Given the description of an element on the screen output the (x, y) to click on. 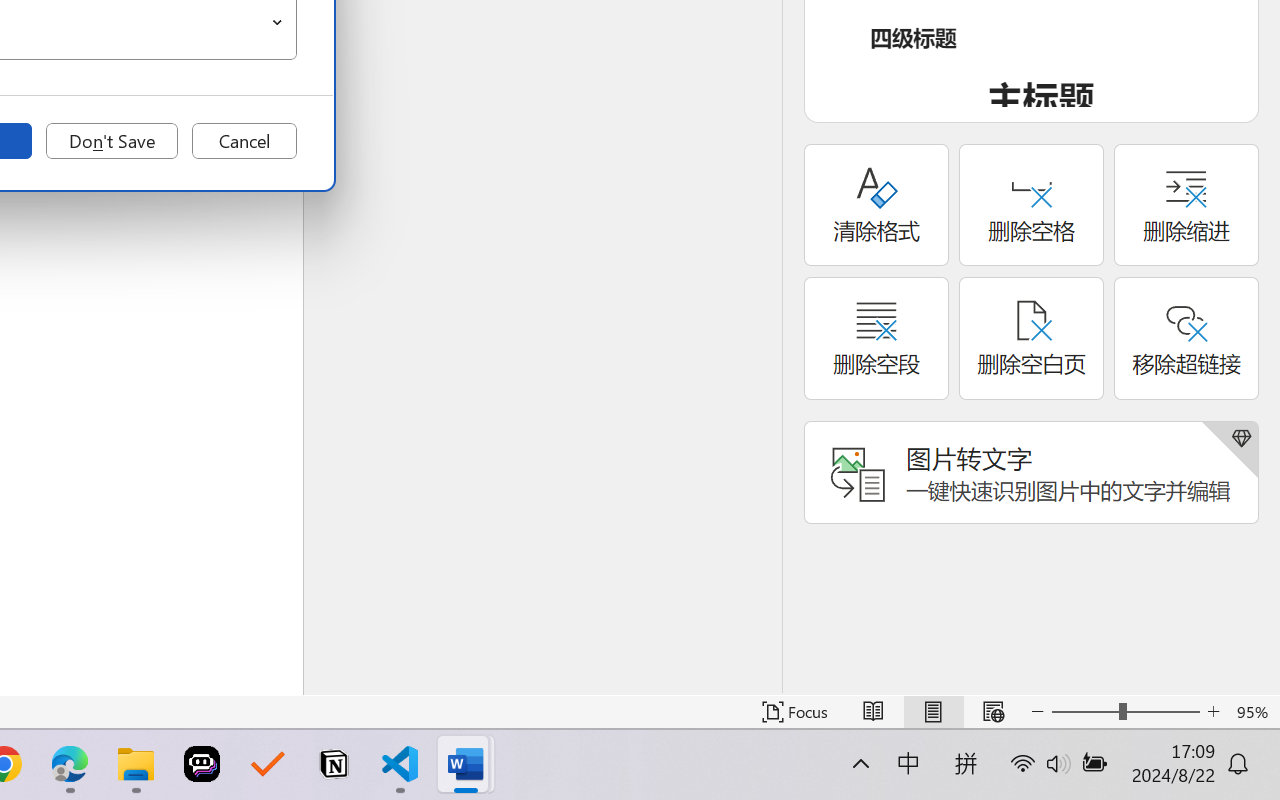
Zoom 95% (1253, 712)
